Given the description of an element on the screen output the (x, y) to click on. 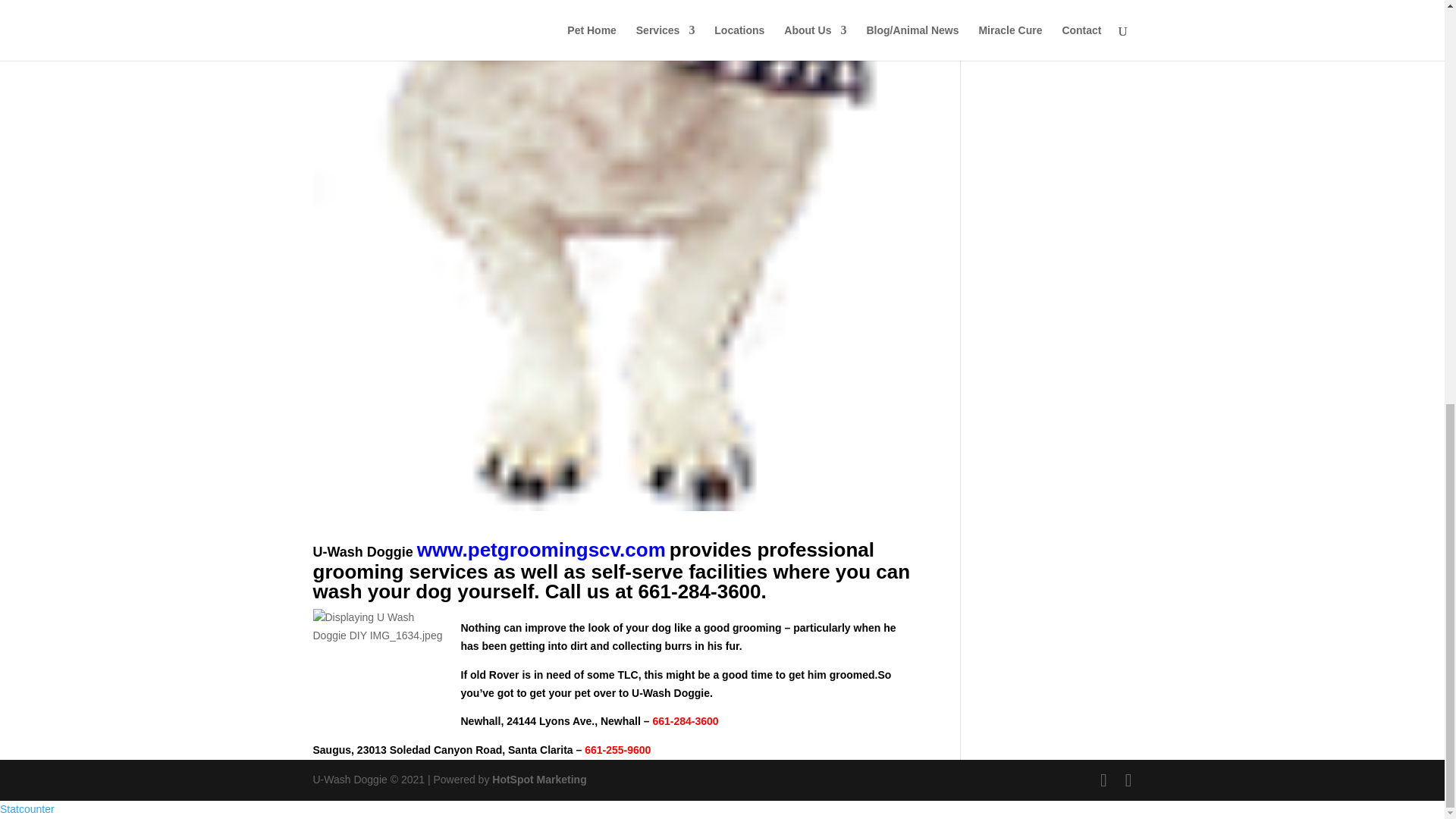
www.petgroomingscv.com (540, 549)
Statcounter (27, 808)
HotSpot Marketing (539, 779)
